Given the description of an element on the screen output the (x, y) to click on. 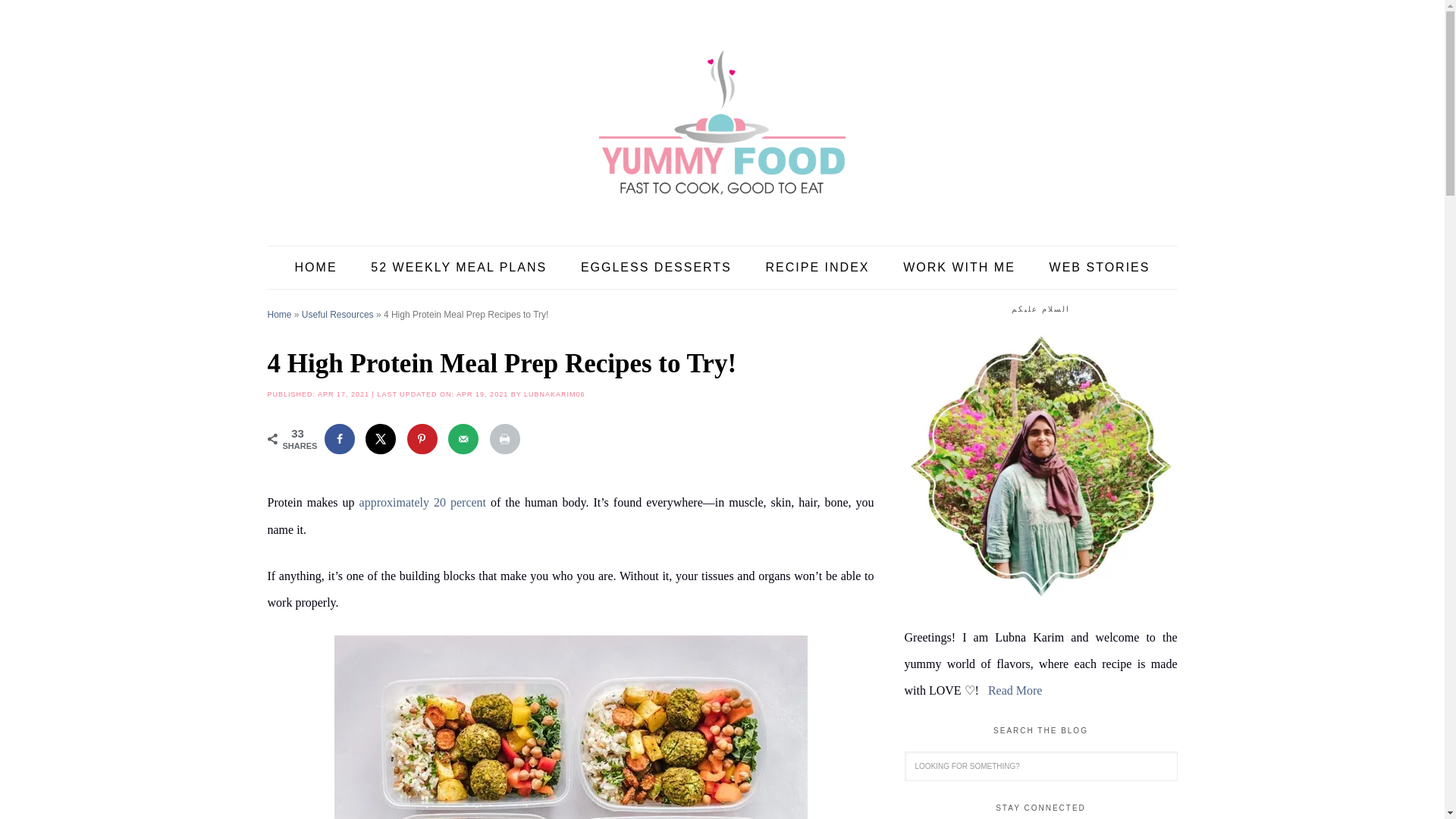
Read More (1015, 689)
WEB STORIES (1099, 267)
EGGLESS DESSERTS (656, 267)
Print this webpage (504, 439)
52 WEEKLY MEAL PLANS (458, 267)
HOME (315, 267)
Home (278, 314)
Yummy Food (721, 120)
